Given the description of an element on the screen output the (x, y) to click on. 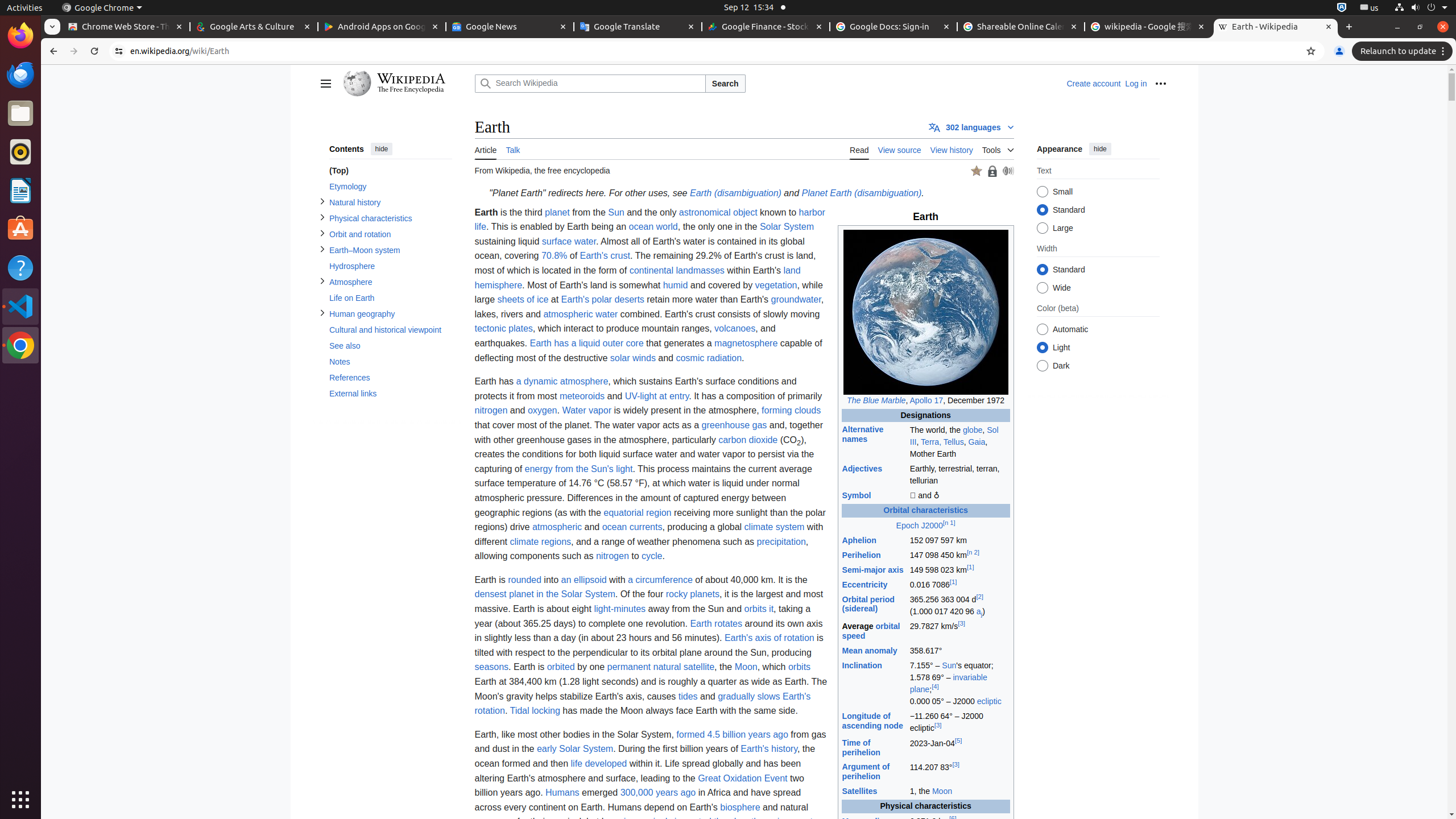
Toggle Orbit and rotation subsection Element type: push-button (321, 233)
tides Element type: link (687, 696)
View source Element type: link (899, 148)
ocean world Element type: link (652, 226)
Gaia Element type: link (976, 441)
